Given the description of an element on the screen output the (x, y) to click on. 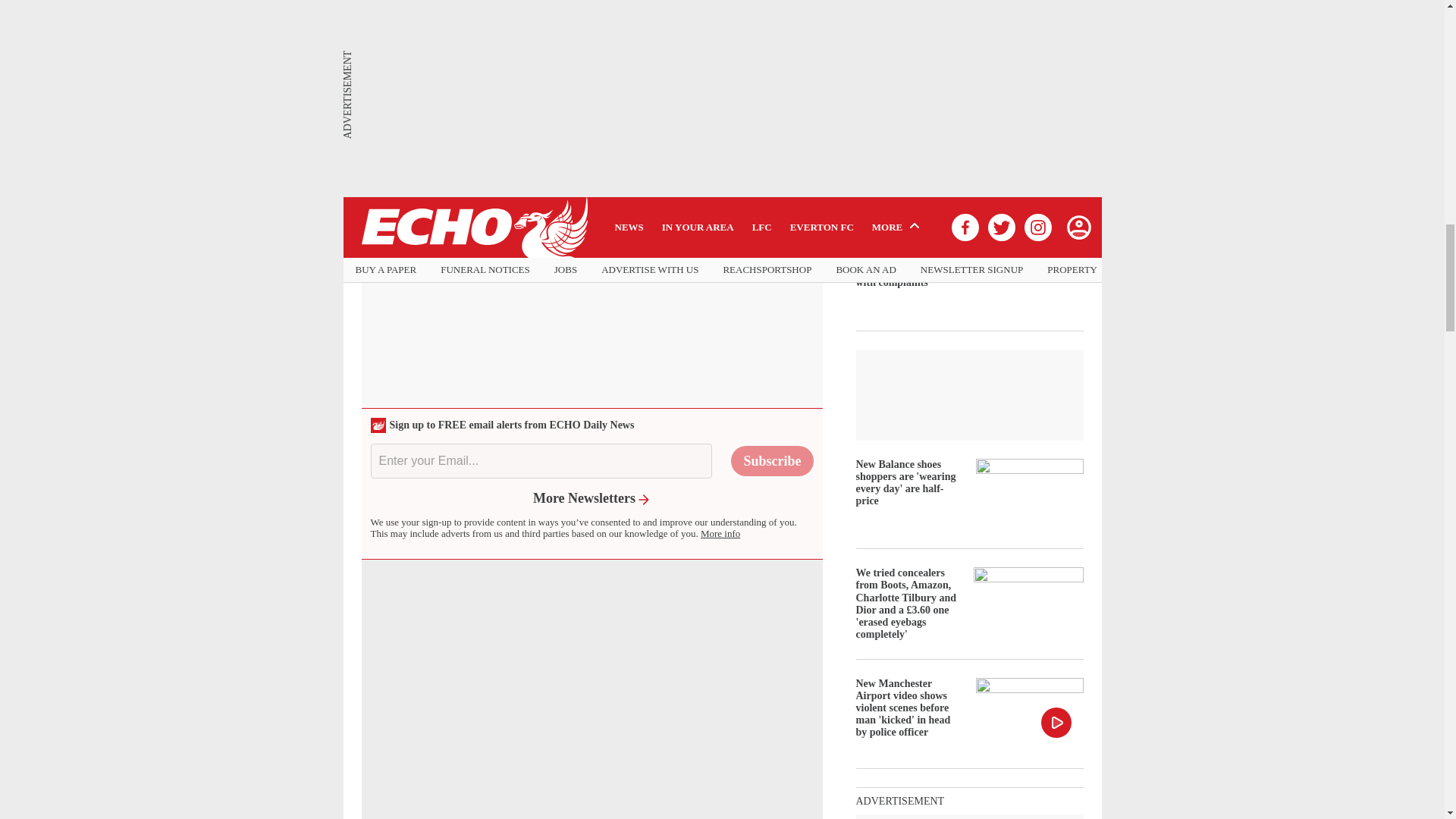
Subscribe (771, 460)
More info (719, 532)
More Newsletters (591, 498)
